Given the description of an element on the screen output the (x, y) to click on. 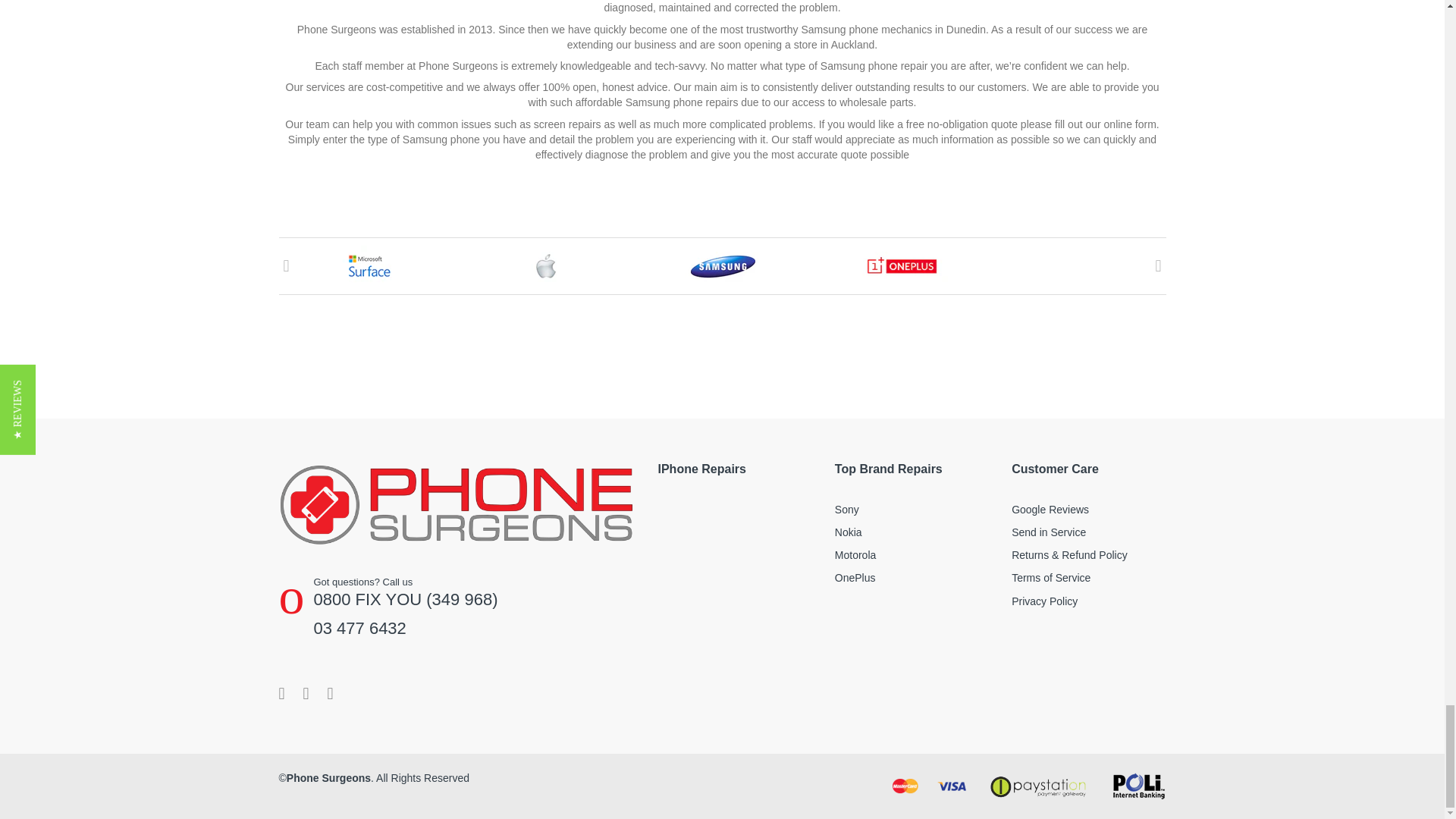
Phone Surgeons (456, 503)
